Given the description of an element on the screen output the (x, y) to click on. 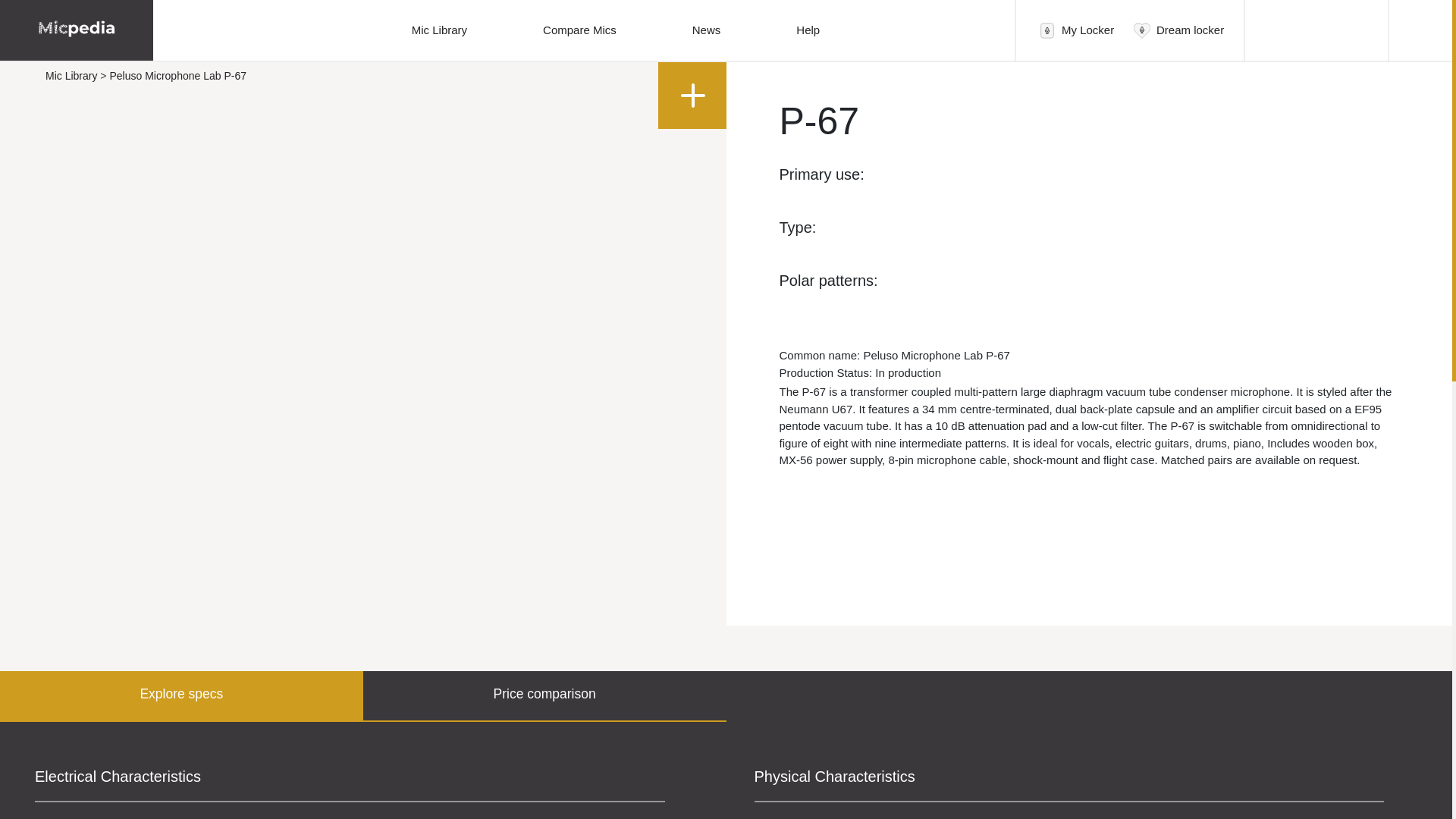
Mic Library (439, 29)
Help (807, 29)
News (706, 29)
Dream locker (1181, 30)
Compare Mics (579, 29)
My Locker (1086, 30)
